Given the description of an element on the screen output the (x, y) to click on. 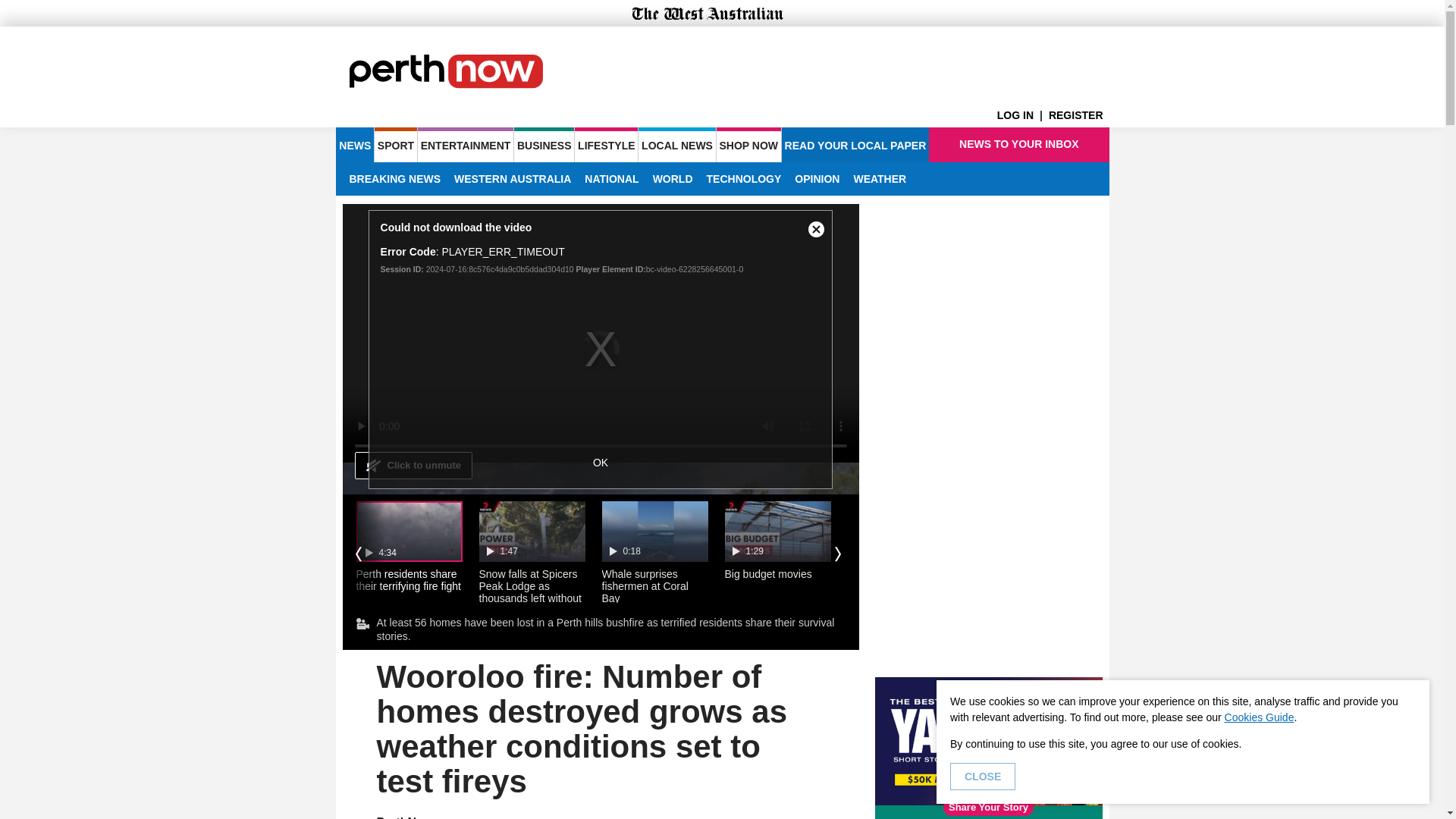
ENTERTAINMENT (465, 144)
LOG IN (1022, 115)
NEWS (354, 144)
Close Modal Dialog (815, 226)
SPORT (395, 144)
REGISTER (1078, 115)
BUSINESS (543, 144)
